Given the description of an element on the screen output the (x, y) to click on. 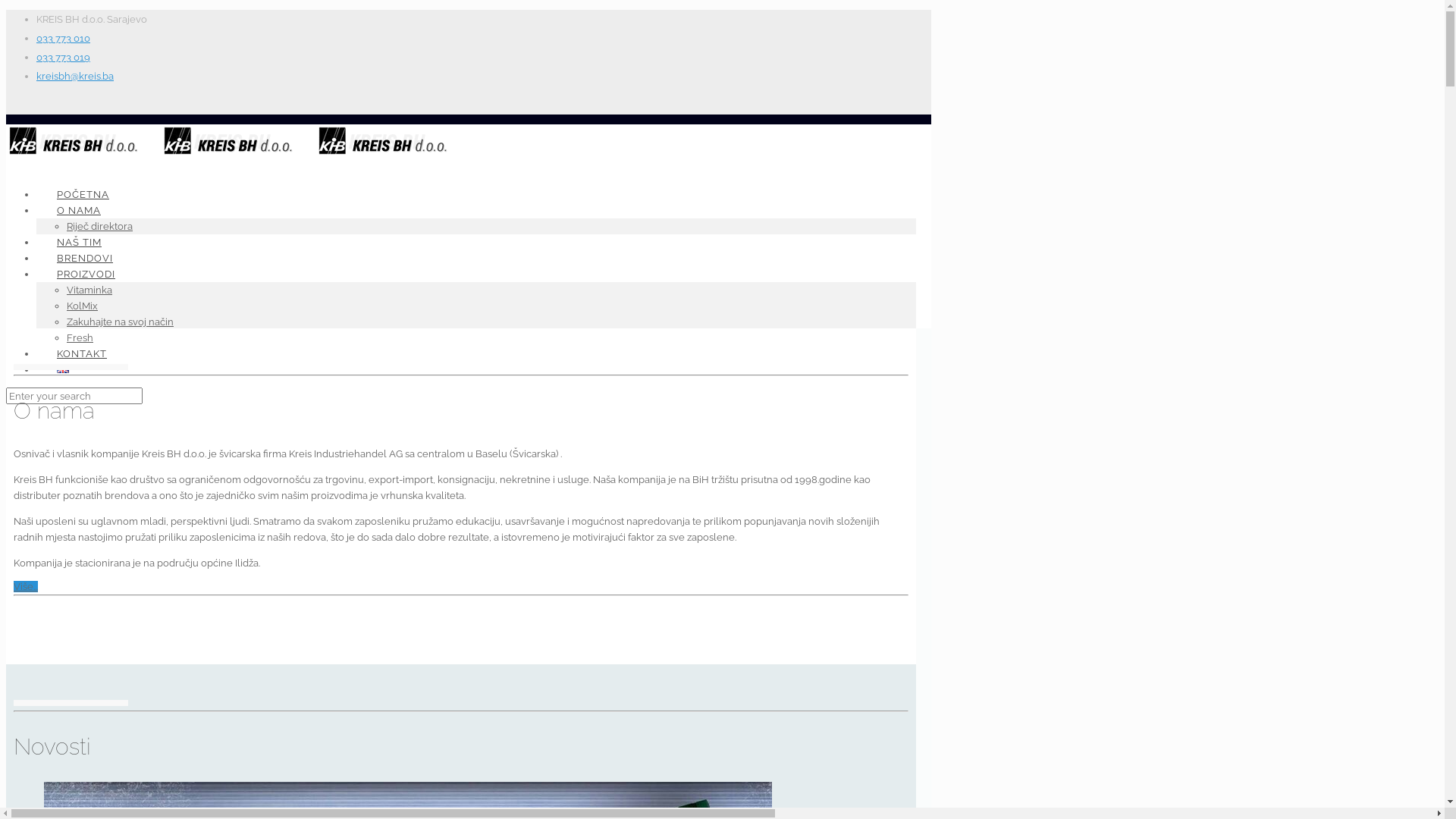
033 773 019 Element type: text (63, 56)
Vitaminka Element type: text (89, 289)
033 773 010 Element type: text (63, 37)
KolMix Element type: text (81, 305)
kreisbh@kreis.ba Element type: text (74, 75)
O NAMA Element type: text (78, 210)
PROIZVODI Element type: text (85, 274)
KONTAKT Element type: text (81, 353)
Fresh Element type: text (79, 337)
BRENDOVI Element type: text (84, 258)
Kreis BH d.o.o. Element type: hover (238, 153)
English Element type: hover (62, 368)
